Given the description of an element on the screen output the (x, y) to click on. 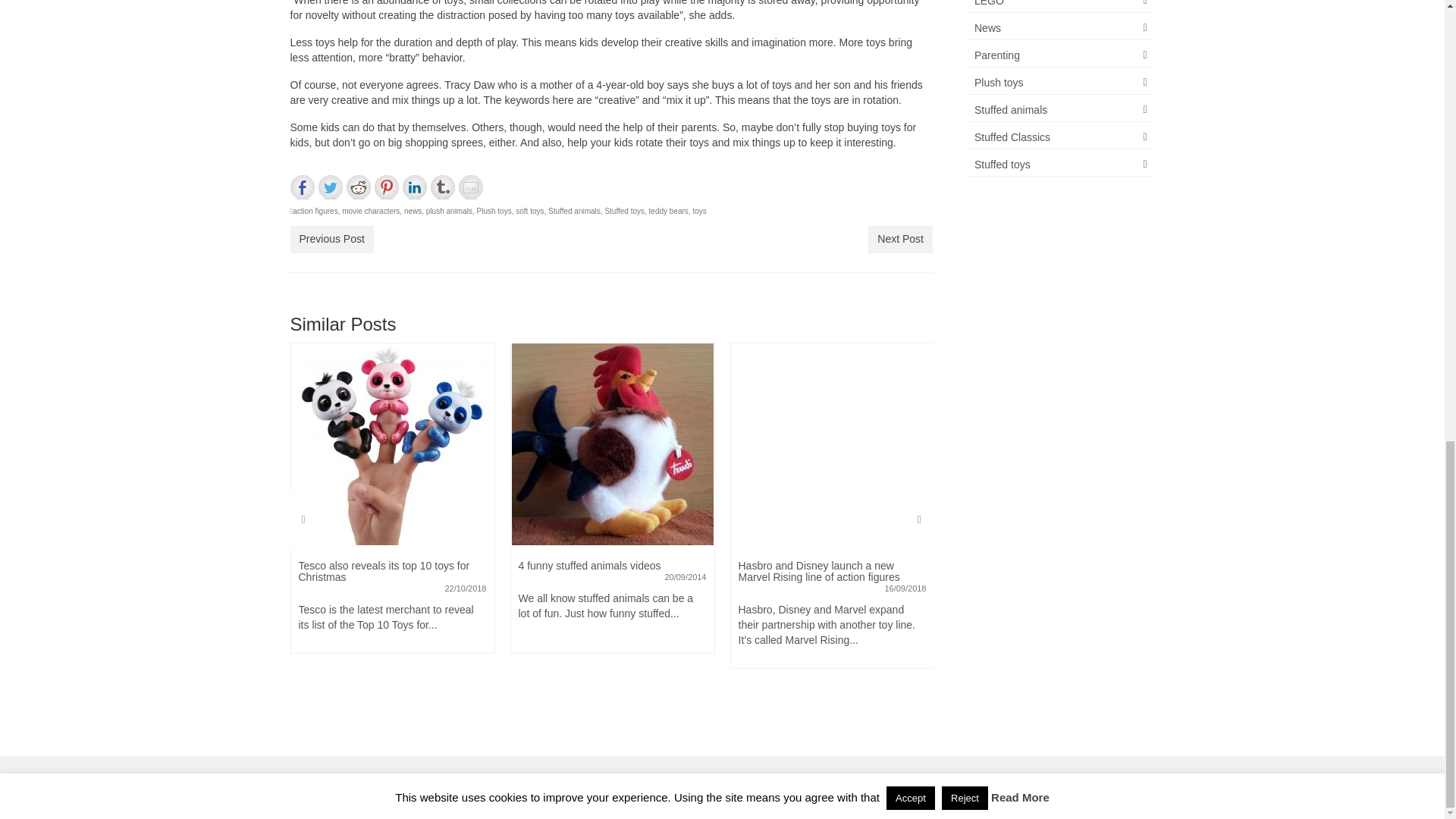
Share on tumblr (442, 187)
Share on Twitter (330, 187)
Share on Facebook (301, 187)
Pin it with Pinterest (386, 187)
Share on Linkedin (413, 187)
Share on Reddit (357, 187)
